Given the description of an element on the screen output the (x, y) to click on. 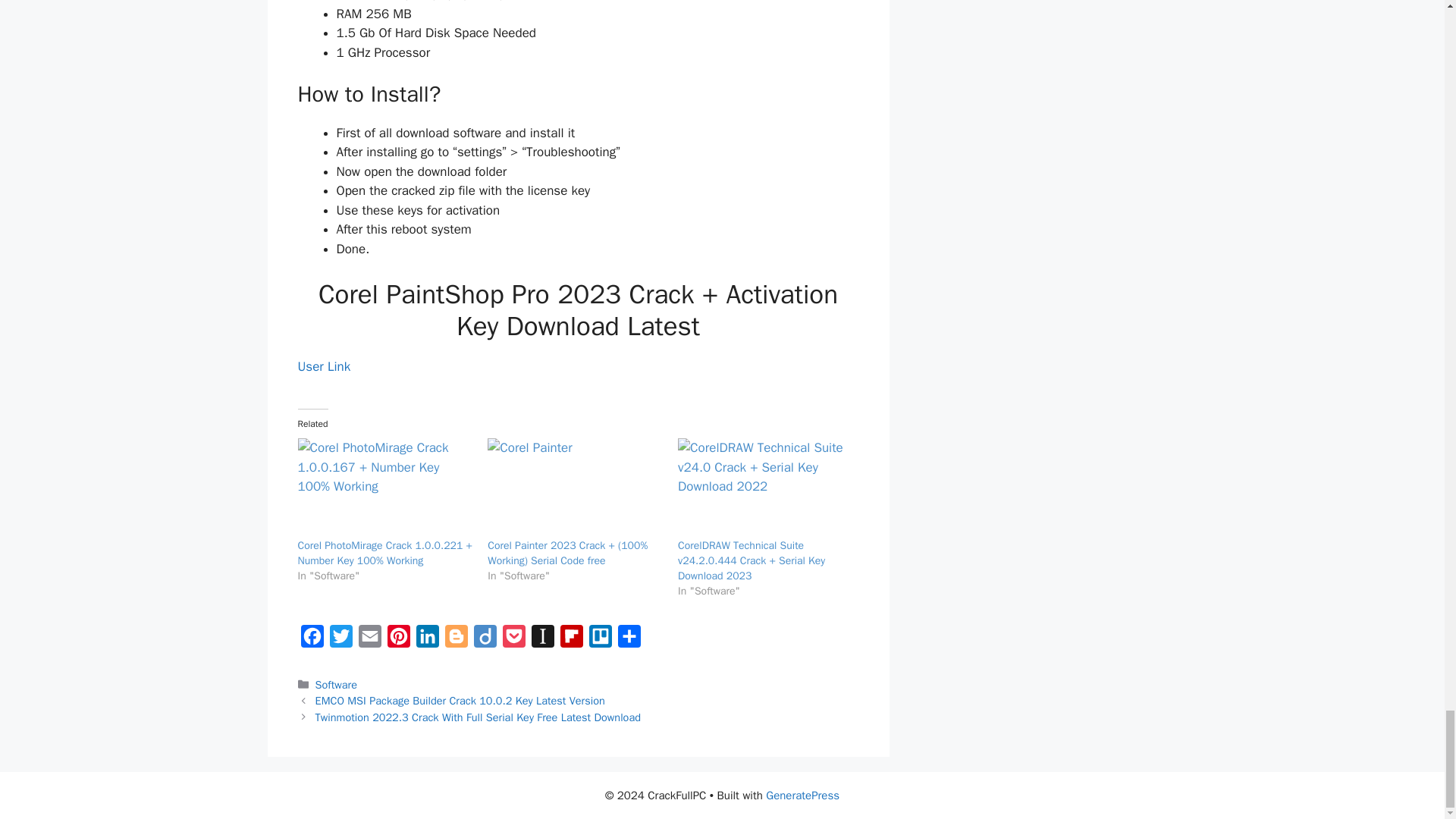
Pinterest (398, 639)
Trello (599, 639)
Email (369, 639)
Twitter (340, 639)
Facebook (311, 639)
Pinterest (398, 639)
User Link (323, 366)
Twitter (340, 639)
Email (369, 639)
LinkedIn (426, 639)
